Given the description of an element on the screen output the (x, y) to click on. 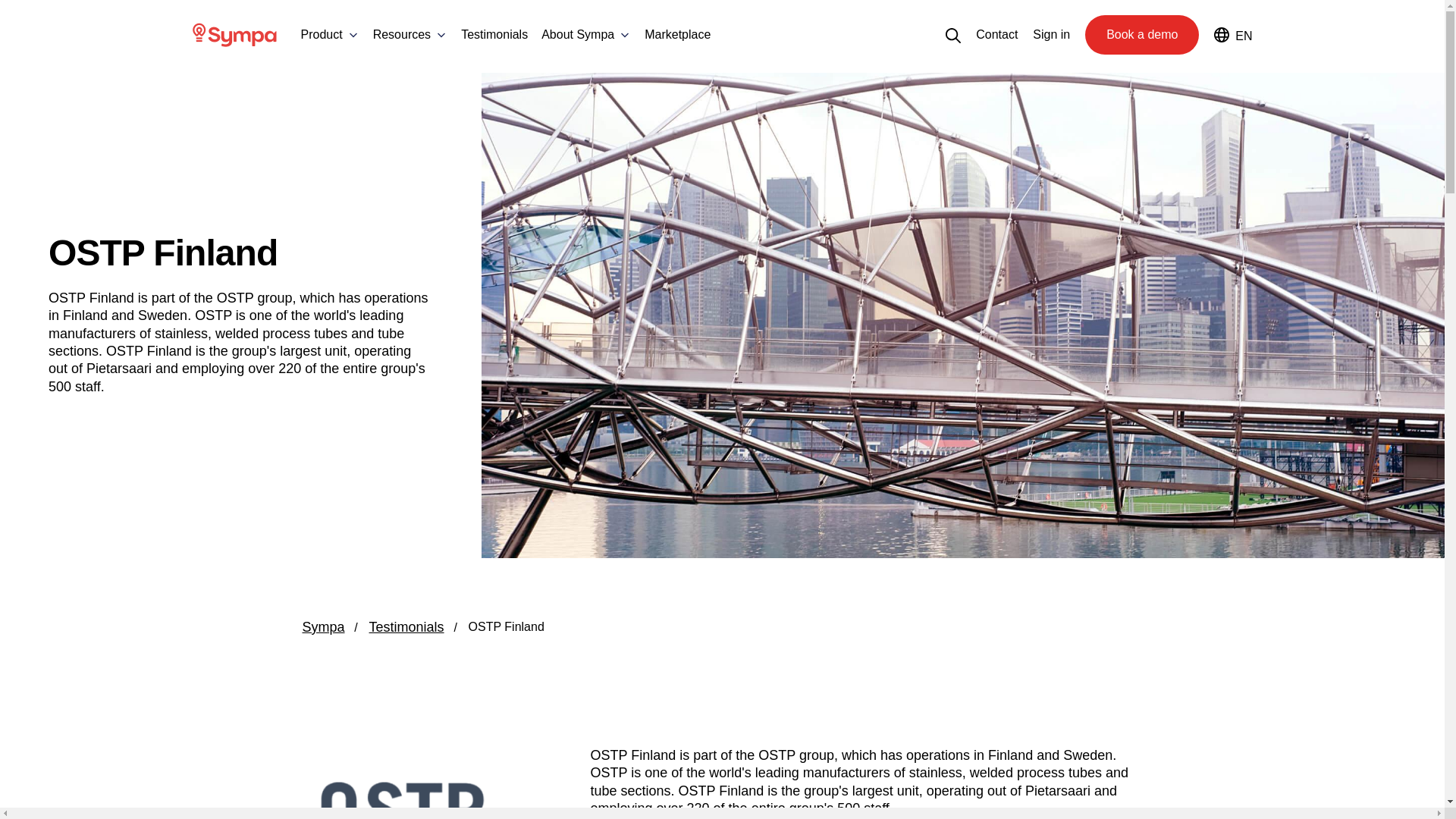
Marketplace (677, 34)
Testimonials (494, 34)
Resources (401, 34)
About Sympa (577, 34)
